Given the description of an element on the screen output the (x, y) to click on. 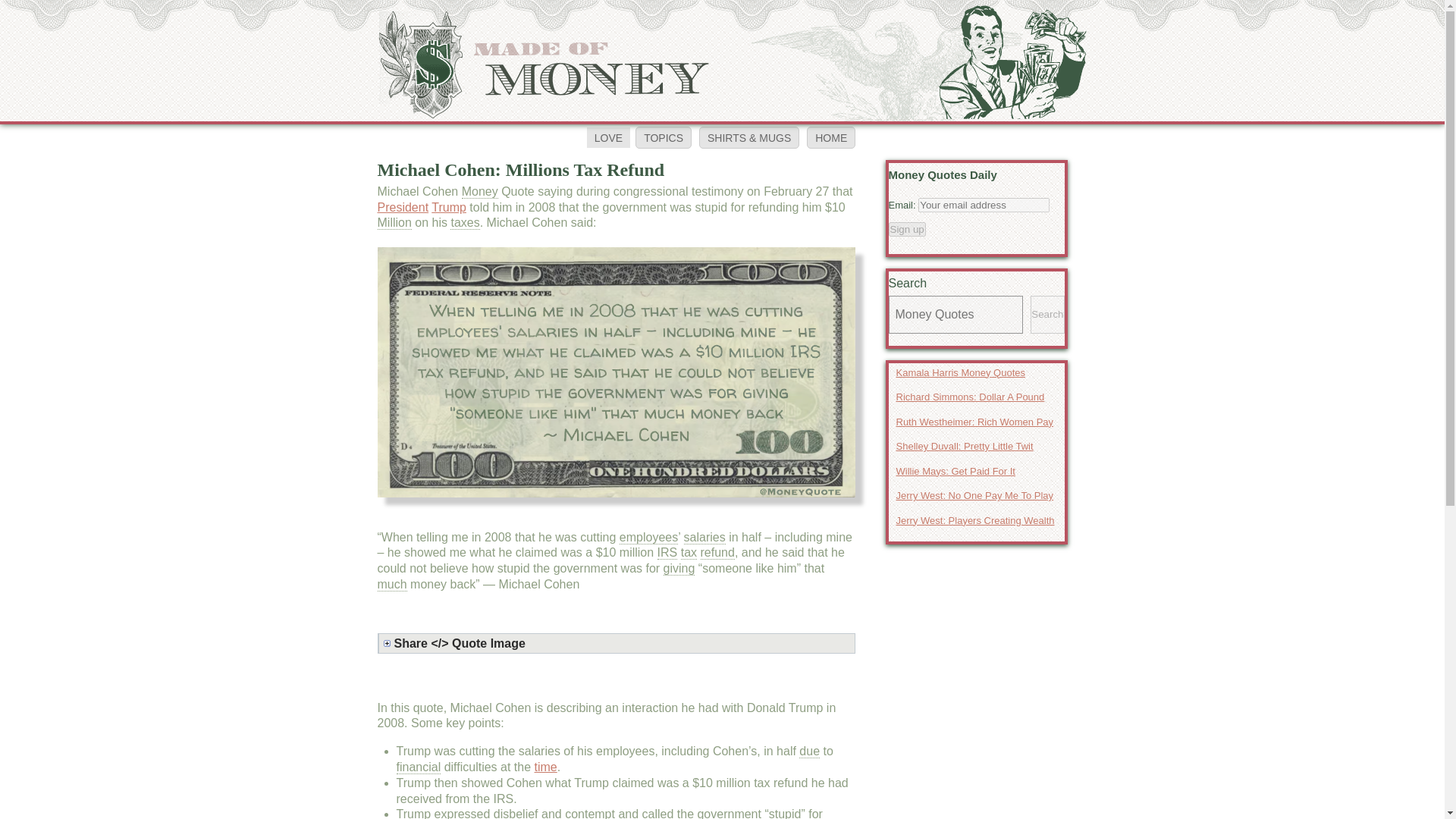
time (545, 766)
taxes (464, 223)
trump (447, 206)
Michael Cohen: Millions Tax Refund (521, 169)
HOME (831, 137)
Million (394, 223)
Expand (619, 642)
President (403, 206)
LOVE (608, 137)
giving (679, 568)
IRS (668, 552)
due (809, 751)
Permanent link to Michael Cohen: Millions Tax Refund (521, 169)
president (403, 206)
employees (649, 537)
